Given the description of an element on the screen output the (x, y) to click on. 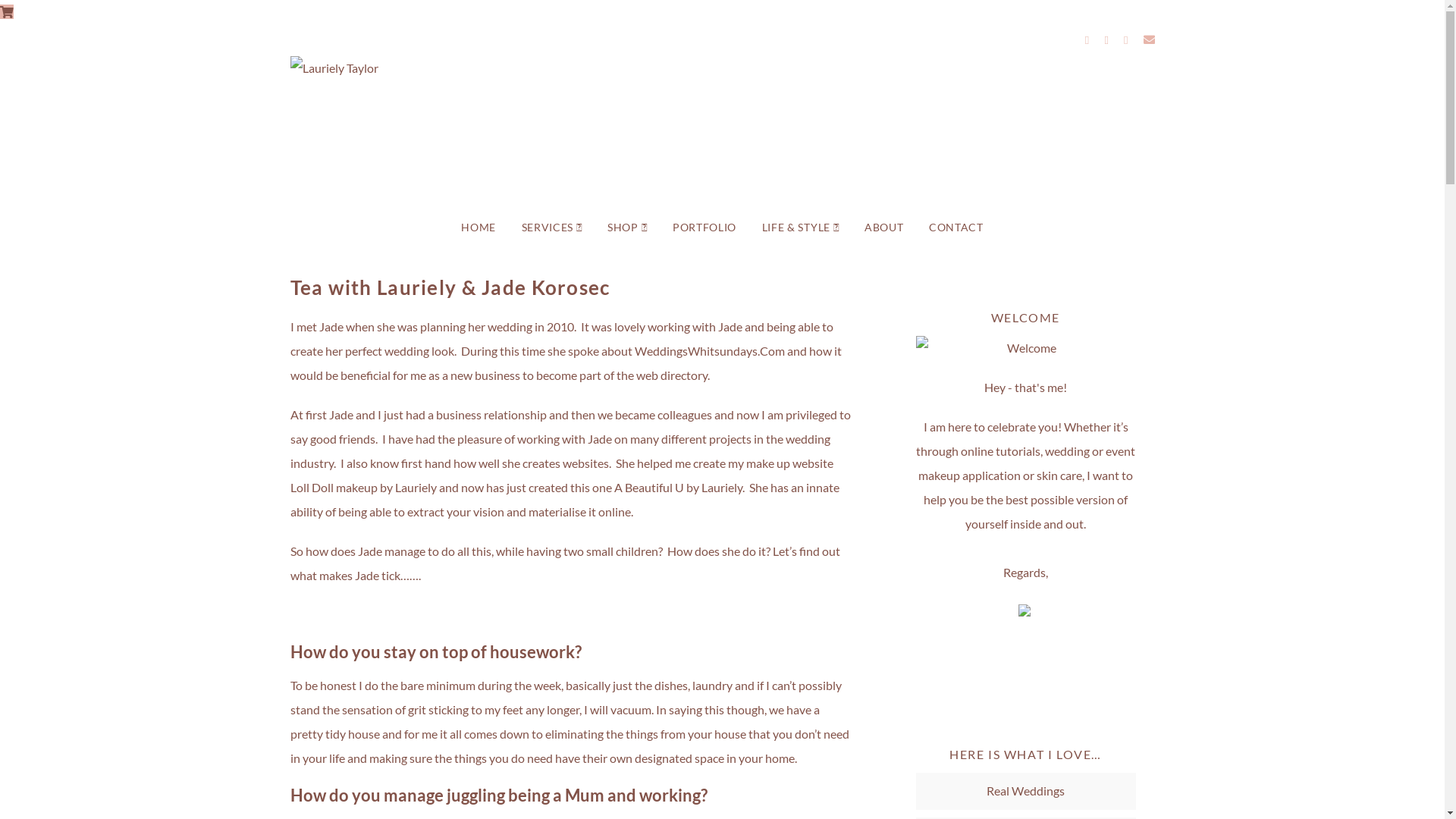
Email Element type: hover (1148, 39)
Tea with Lauriely & Jade Korosec Element type: text (449, 287)
SERVICES Element type: text (551, 227)
HOME Element type: text (478, 227)
Lauriely Taylor Element type: hover (721, 131)
Loll Doll makeup by Lauriely Element type: text (362, 487)
View your shopping cart Element type: hover (6, 11)
ABOUT Element type: text (883, 227)
Instagram Element type: hover (1106, 39)
YouTube Element type: hover (1125, 39)
Facebook Element type: hover (1087, 39)
LIFE & STYLE Element type: text (800, 227)
Real Weddings Element type: text (1025, 790)
PORTFOLIO Element type: text (704, 227)
CONTACT Element type: text (955, 227)
SHOP Element type: text (627, 227)
